Given the description of an element on the screen output the (x, y) to click on. 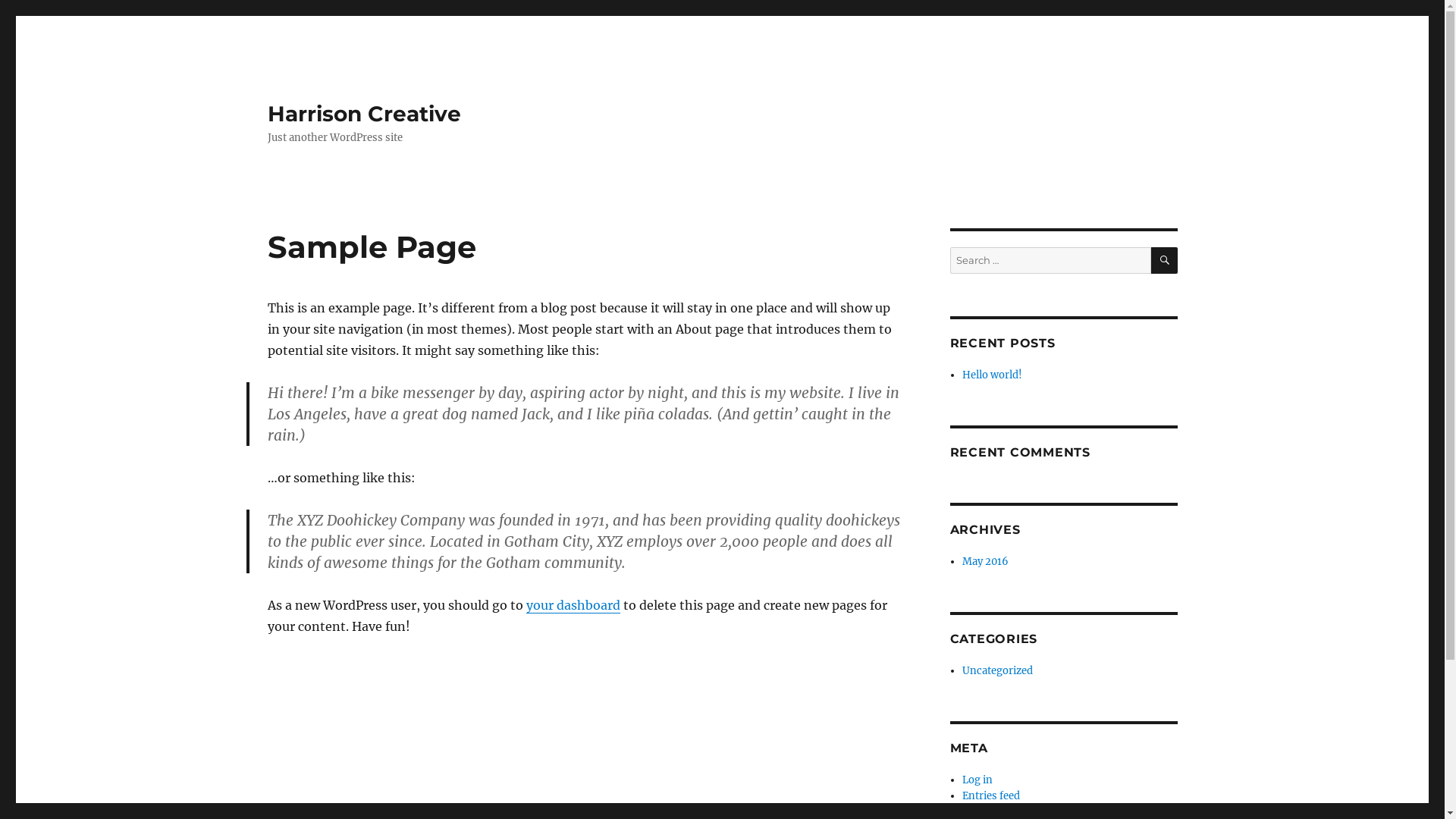
May 2016 Element type: text (985, 561)
Harrison Creative Element type: text (363, 113)
Log in Element type: text (977, 779)
Hello world! Element type: text (992, 374)
Entries feed Element type: text (990, 795)
SEARCH Element type: text (1164, 260)
Comments feed Element type: text (1000, 811)
Uncategorized Element type: text (997, 670)
your dashboard Element type: text (573, 604)
